Given the description of an element on the screen output the (x, y) to click on. 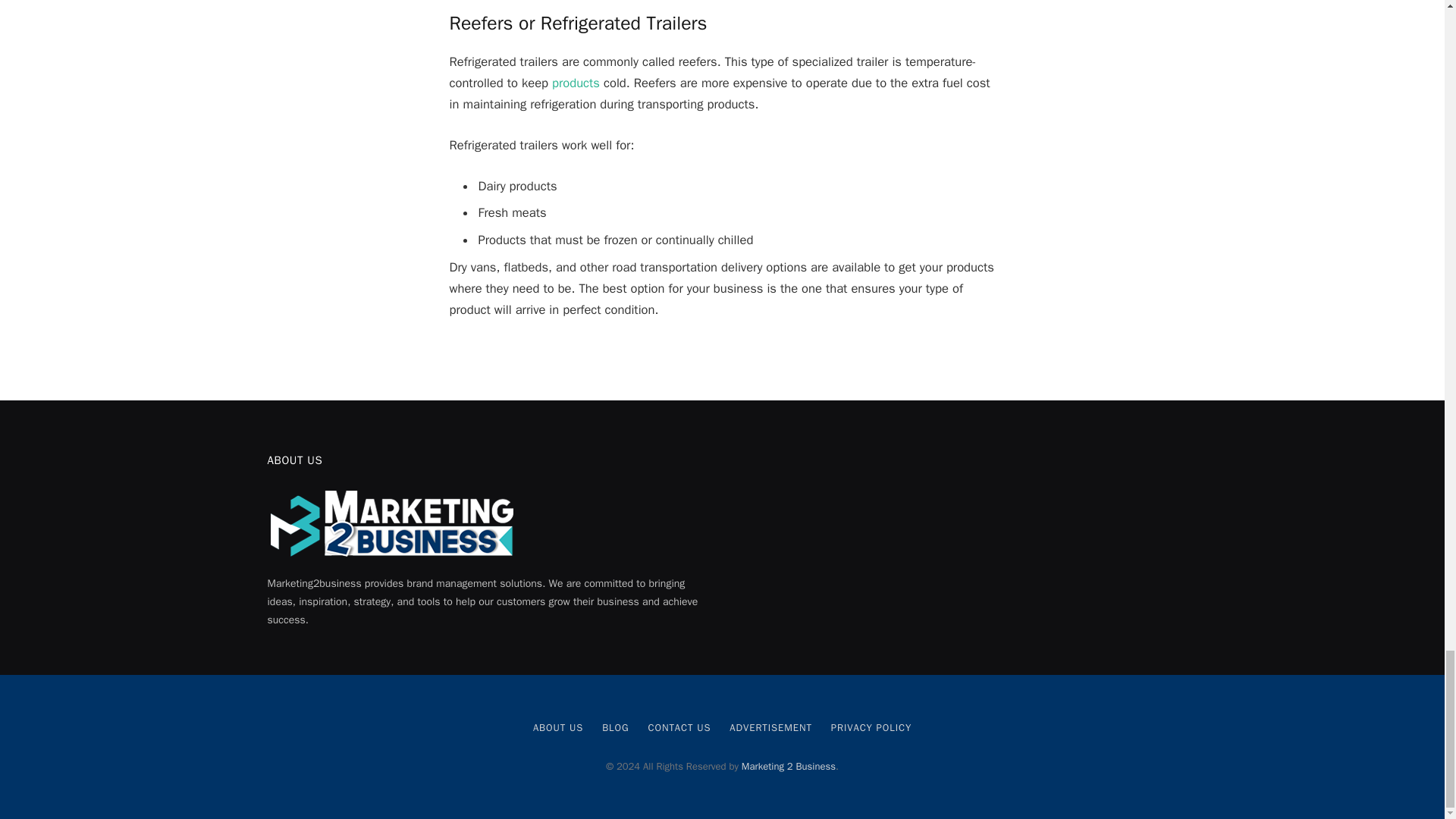
ABOUT US (557, 727)
BLOG (615, 727)
products (575, 82)
CONTACT US (678, 727)
